Given the description of an element on the screen output the (x, y) to click on. 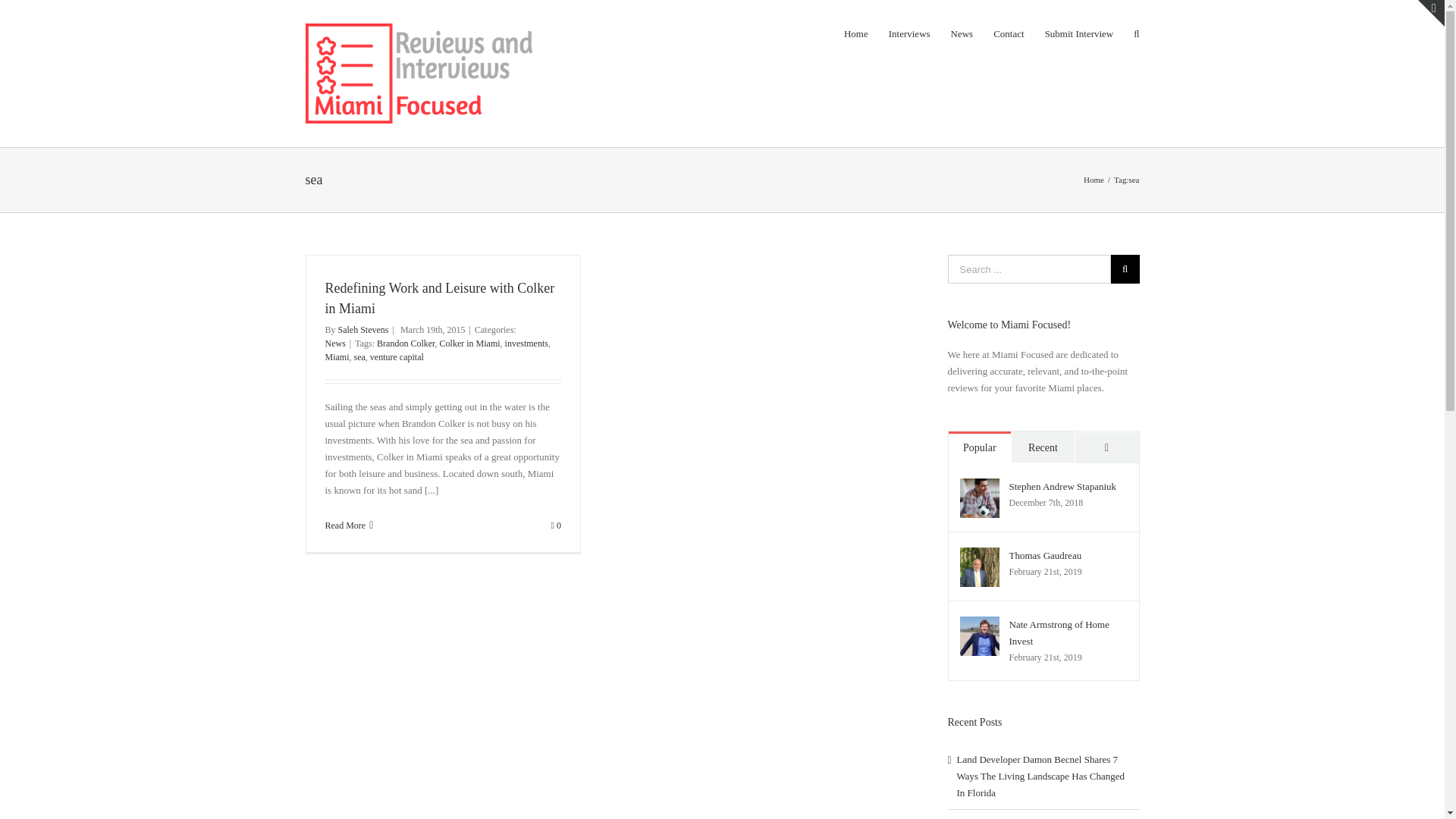
Saleh Stevens (362, 329)
sea (359, 357)
Submit Interview (1079, 32)
News (334, 343)
Posts by Saleh Stevens (362, 329)
investments (526, 343)
 0 (555, 525)
Colker in Miami (469, 343)
Brandon Colker (406, 343)
Read More (344, 525)
